Given the description of an element on the screen output the (x, y) to click on. 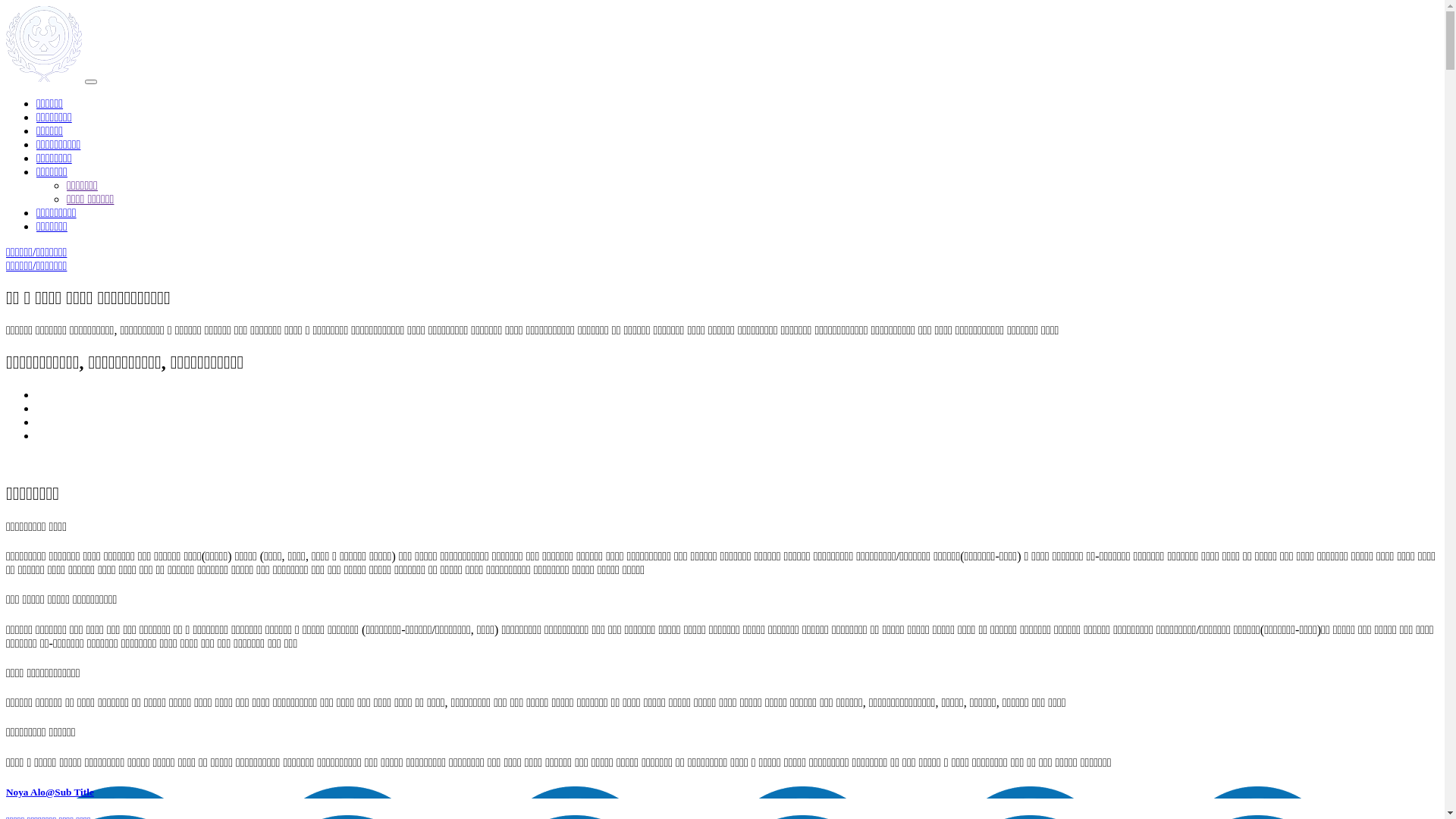
Noya Alo@Sub Title Element type: text (722, 792)
